Given the description of an element on the screen output the (x, y) to click on. 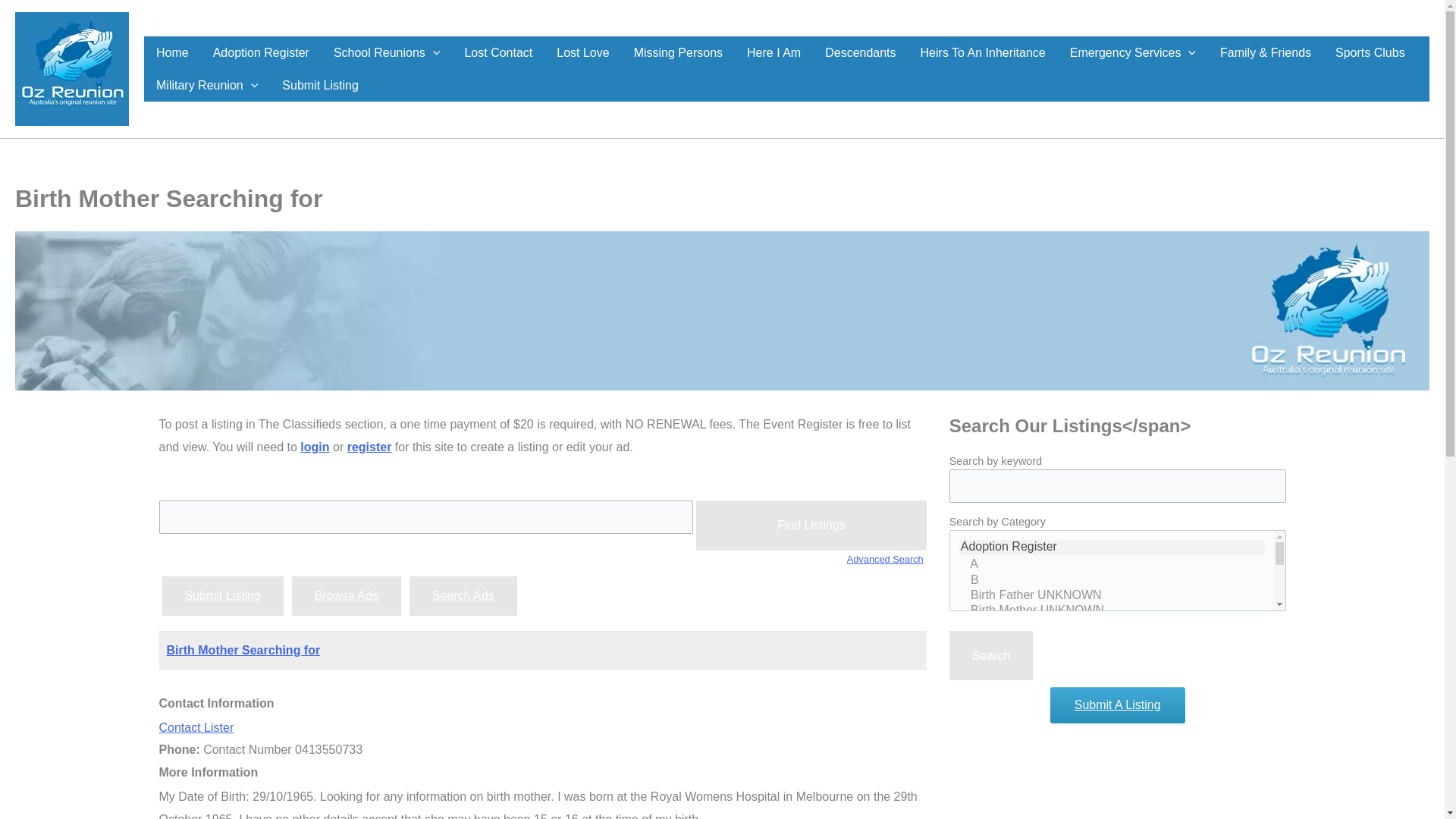
Free to view all records (773, 52)
Lost Contact (497, 52)
Military Reunion (206, 84)
Free to view all records (859, 52)
Submit Listing (320, 84)
Heirs To An Inheritance (983, 52)
Sports Clubs (1369, 52)
Free to view all records (497, 52)
Free to view all records (678, 52)
Free to view all records (386, 52)
